Given the description of an element on the screen output the (x, y) to click on. 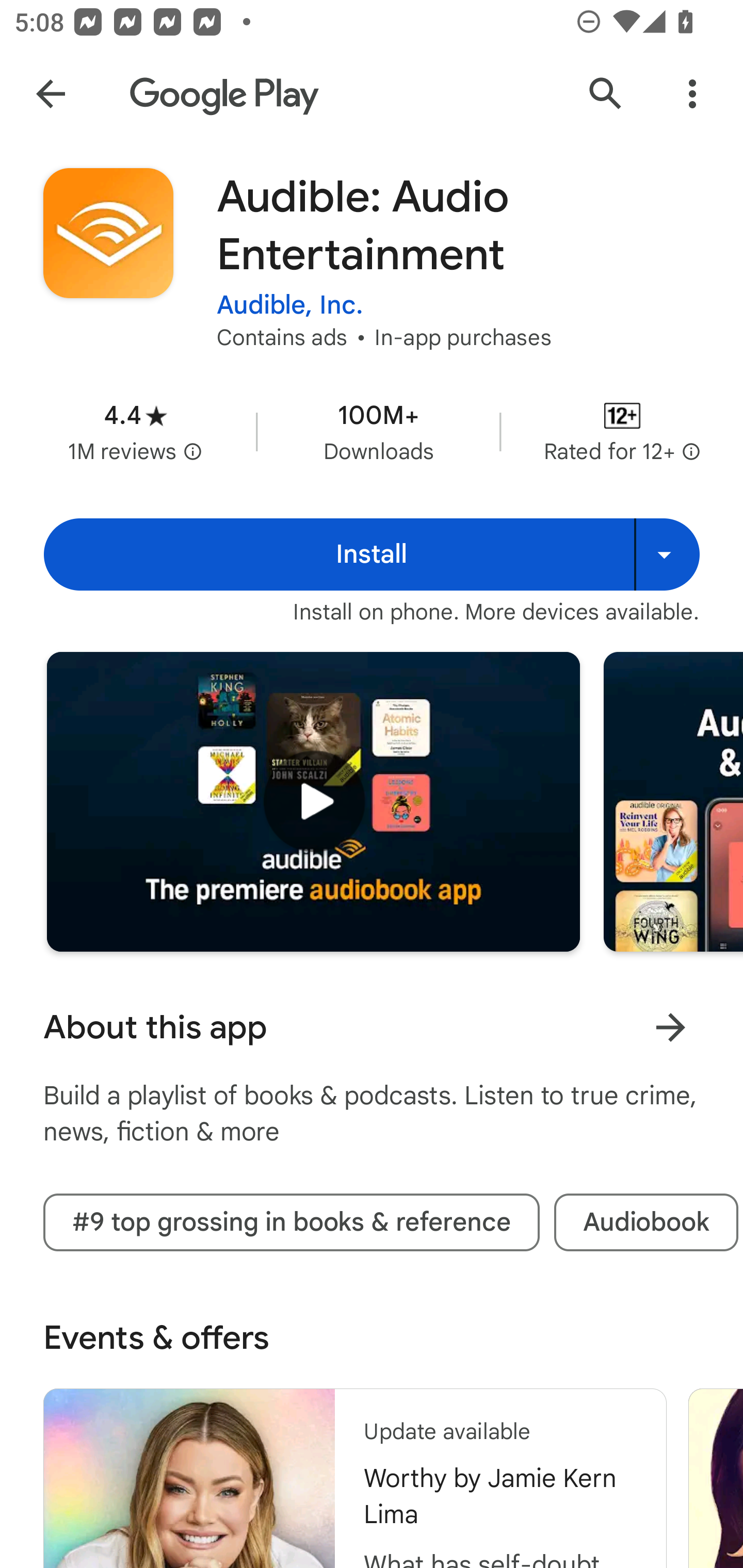
Navigate up (50, 93)
Search Google Play (605, 93)
More Options (692, 93)
Audible, Inc. (290, 304)
Average rating 4.4 stars in 1 million reviews (135, 431)
Content rating Rated for 12+ (622, 431)
Install Install Install on more devices (371, 554)
Install on more devices (667, 554)
Play trailer for "Audible: Audio Entertainment" (313, 801)
About this app Learn more About this app (371, 1027)
Learn more About this app (670, 1027)
#9 top grossing in books & reference tag (291, 1222)
Audiobook tag (646, 1222)
